Given the description of an element on the screen output the (x, y) to click on. 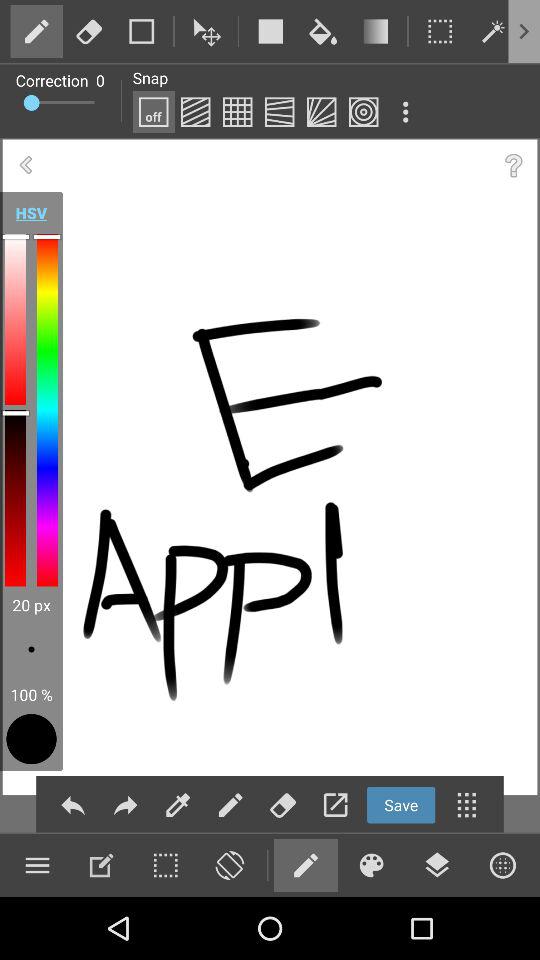
use eraser (282, 804)
